Given the description of an element on the screen output the (x, y) to click on. 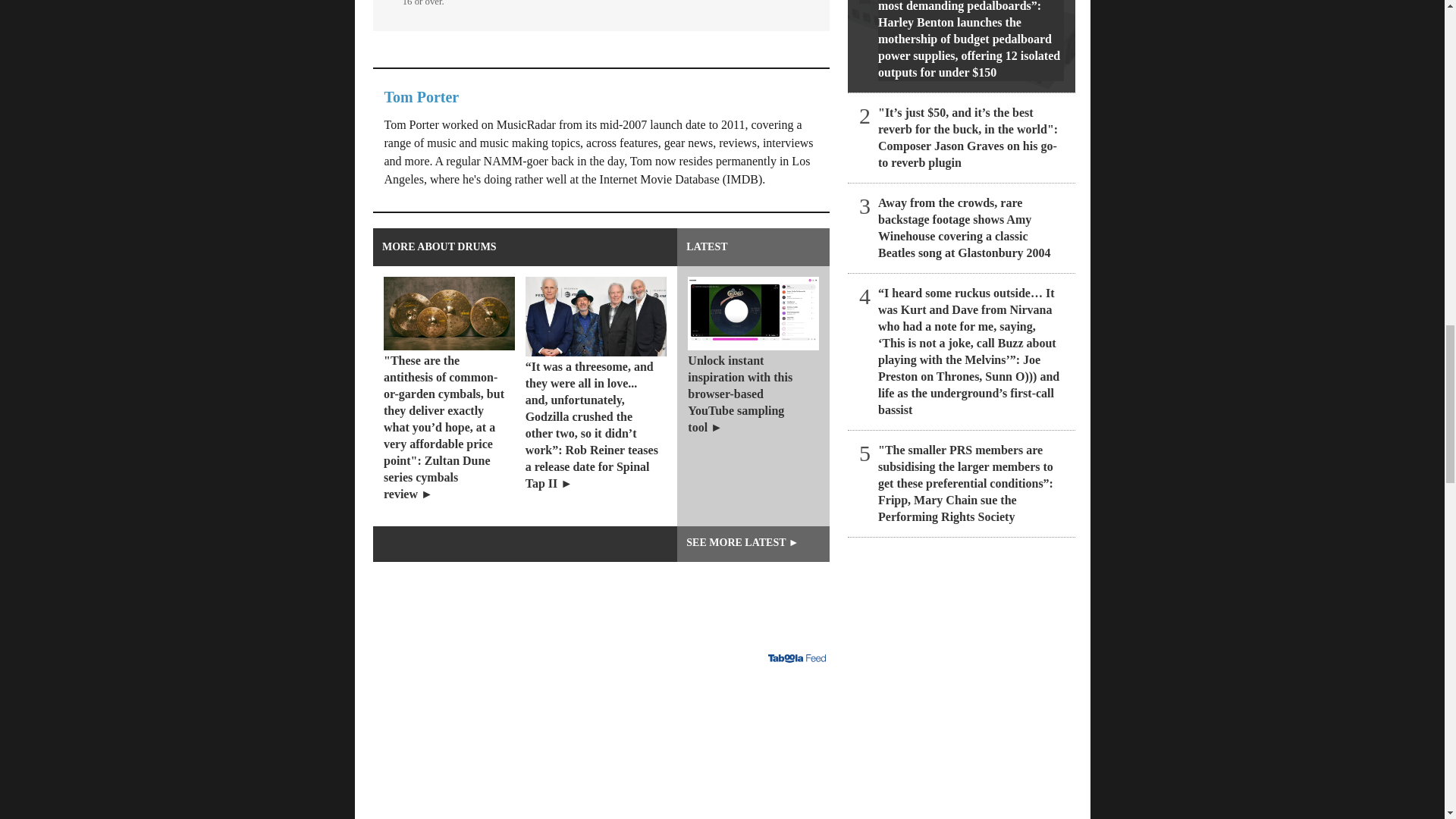
If you own a mouse, play it for 1 minute. (600, 745)
